Given the description of an element on the screen output the (x, y) to click on. 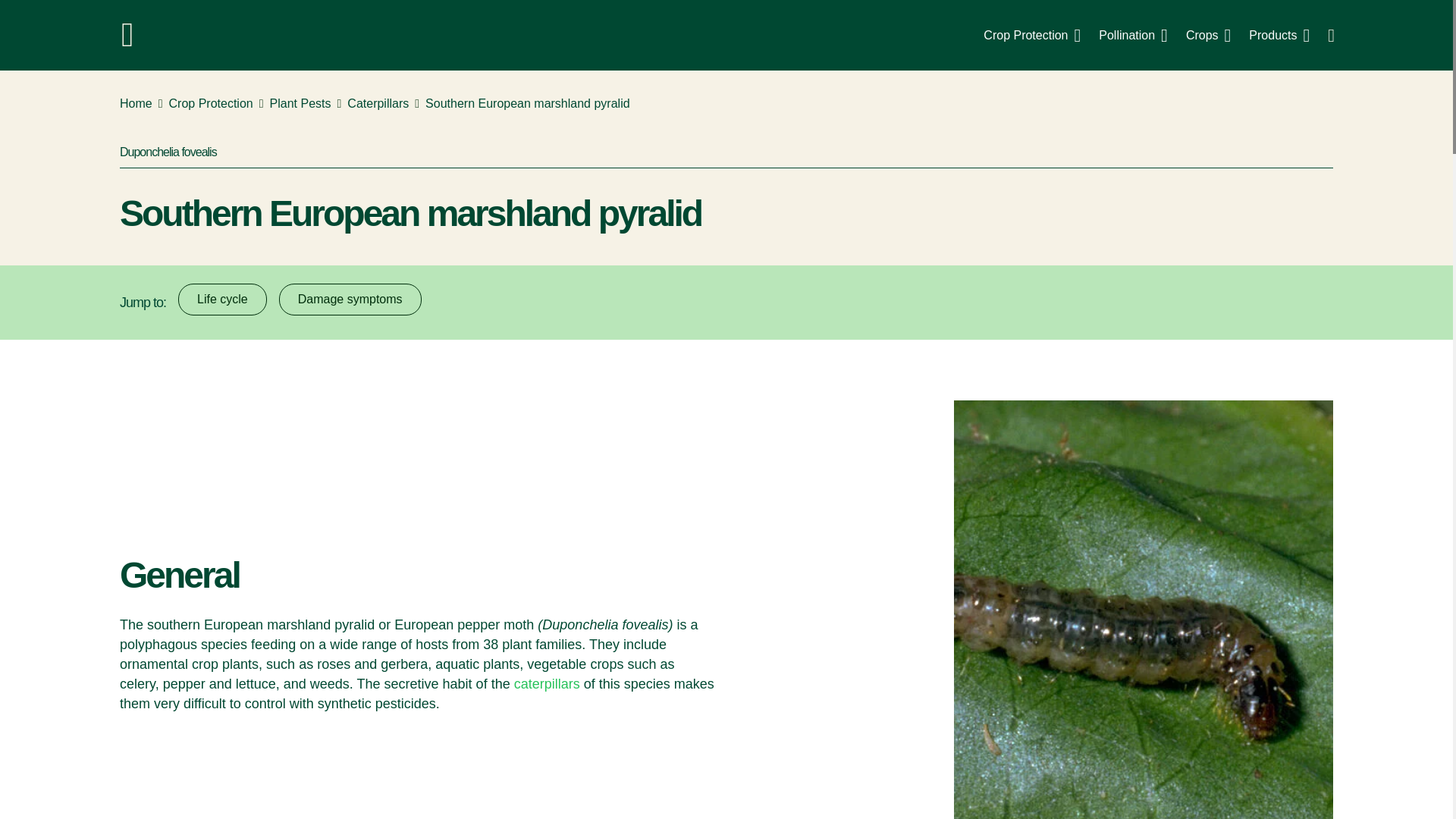
Products (1278, 34)
Caterpillars (378, 104)
Crop Protection (1032, 34)
Pollination (1133, 34)
Crops (1208, 34)
Crop Protection (210, 104)
Damage symptoms (350, 299)
Plant Pests (300, 104)
Life cycle (221, 299)
Home (135, 104)
